Given the description of an element on the screen output the (x, y) to click on. 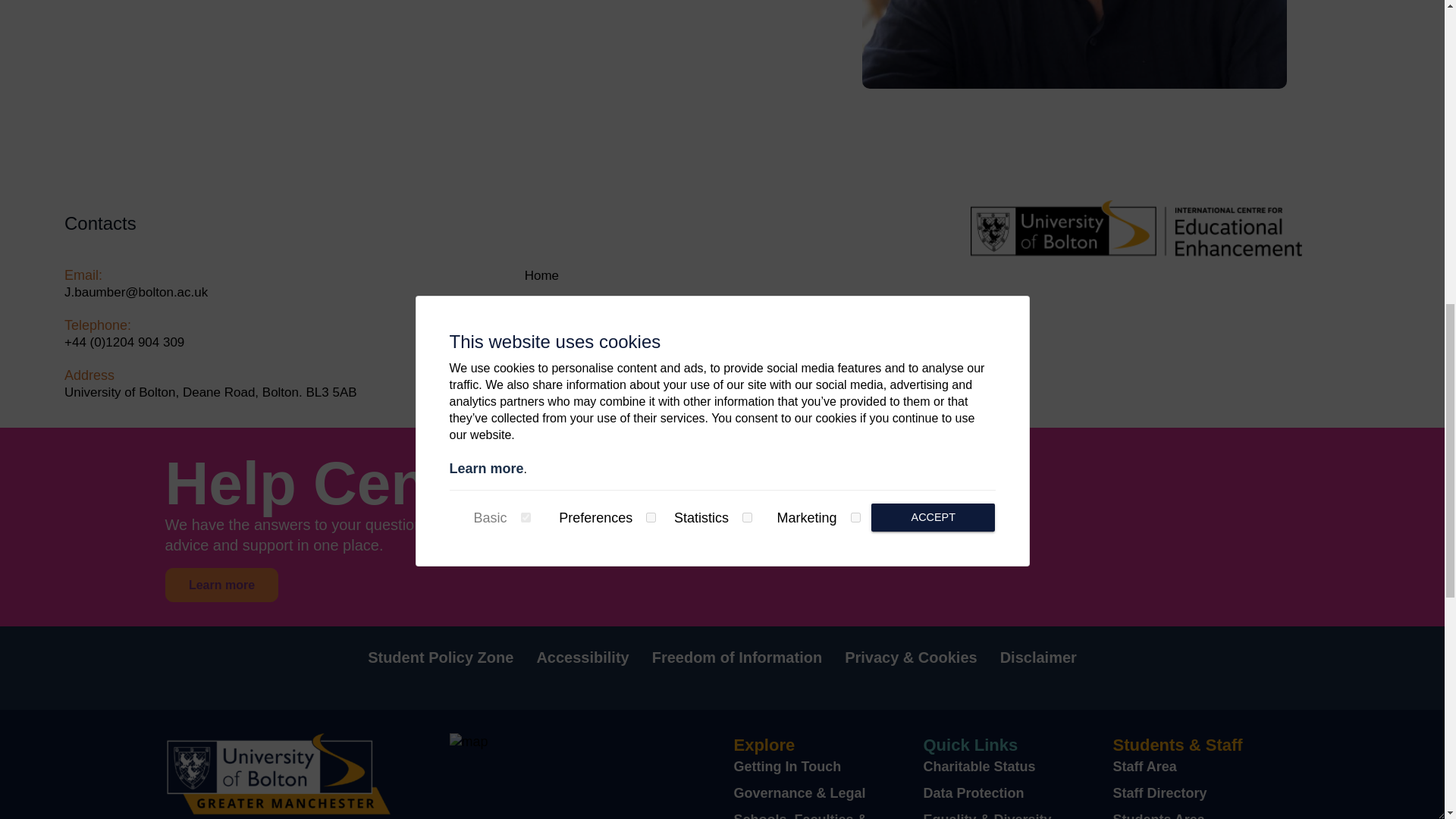
Home (541, 274)
Learn more (438, 584)
About (540, 308)
Freedom of Information (737, 657)
Disclaimer (1038, 657)
Student Policy Zone (440, 657)
Team (540, 341)
Getting In Touch (787, 766)
Accessibility (581, 657)
Learn more (222, 584)
